Given the description of an element on the screen output the (x, y) to click on. 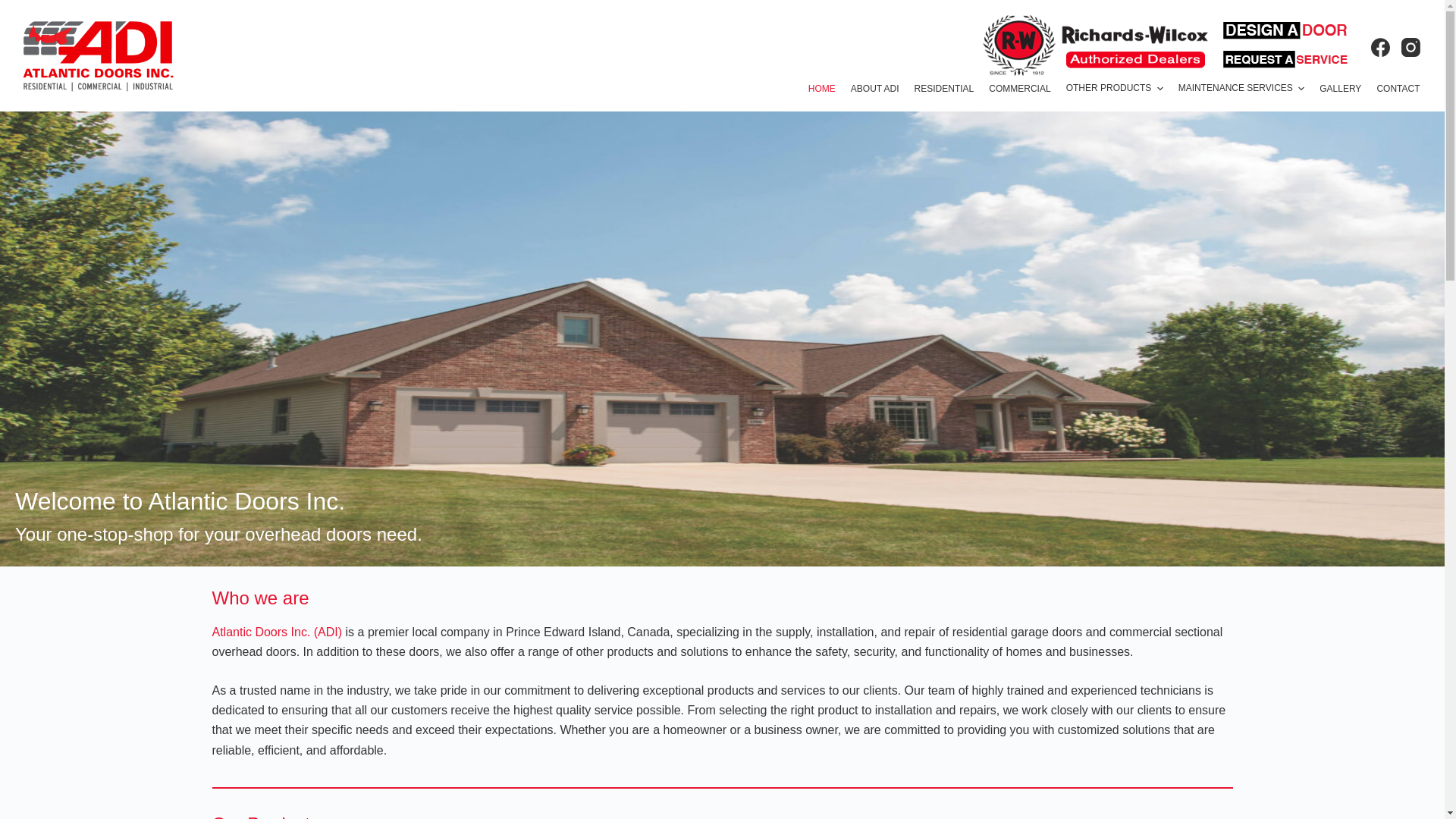
COMMERCIAL Element type: text (1019, 89)
Skip to content Element type: text (15, 7)
GALLERY Element type: text (1339, 89)
ABOUT ADI Element type: text (874, 89)
OTHER PRODUCTS Element type: text (1114, 88)
MAINTENANCE SERVICES Element type: text (1241, 88)
CONTACT Element type: text (1397, 89)
HOME Element type: text (821, 89)
RESIDENTIAL Element type: text (944, 89)
